Given the description of an element on the screen output the (x, y) to click on. 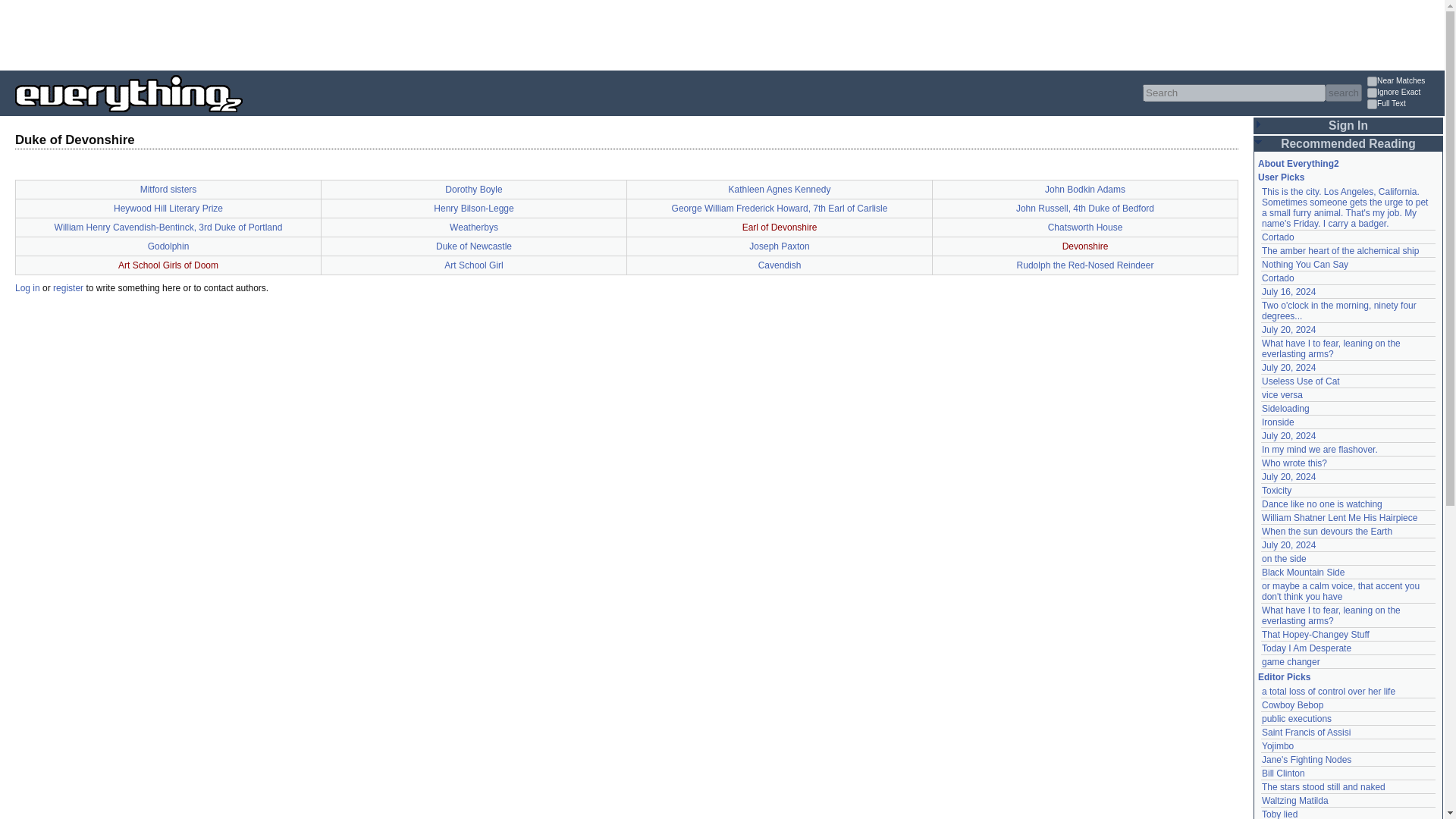
Login (1276, 239)
Kathleen Agnes Kennedy (780, 189)
Art School Girl (473, 265)
Advertisement (275, 33)
July 20, 2024 (1289, 329)
Cortado (1278, 277)
search (1342, 92)
Dorothy Boyle (473, 189)
Mitford sisters (167, 189)
Search within Everything2 (1342, 92)
William Henry Cavendish-Bentinck, 3rd Duke of Portland (168, 226)
register (67, 287)
Log in (27, 287)
1 (1372, 103)
Everything (242, 117)
